Given the description of an element on the screen output the (x, y) to click on. 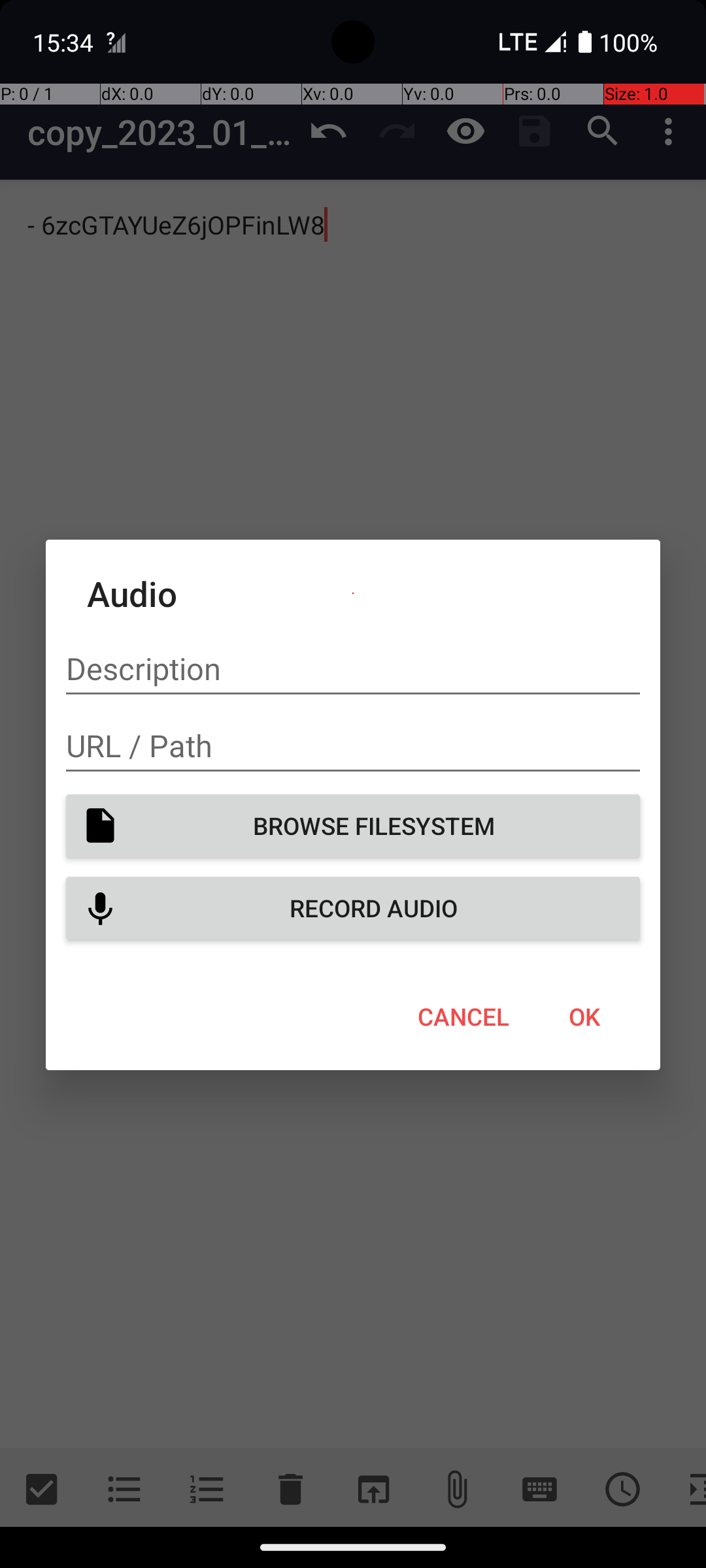
URL / Path Element type: android.widget.EditText (352, 745)
BROWSE FILESYSTEM Element type: android.widget.Button (352, 825)
RECORD AUDIO Element type: android.widget.Button (352, 907)
